Given the description of an element on the screen output the (x, y) to click on. 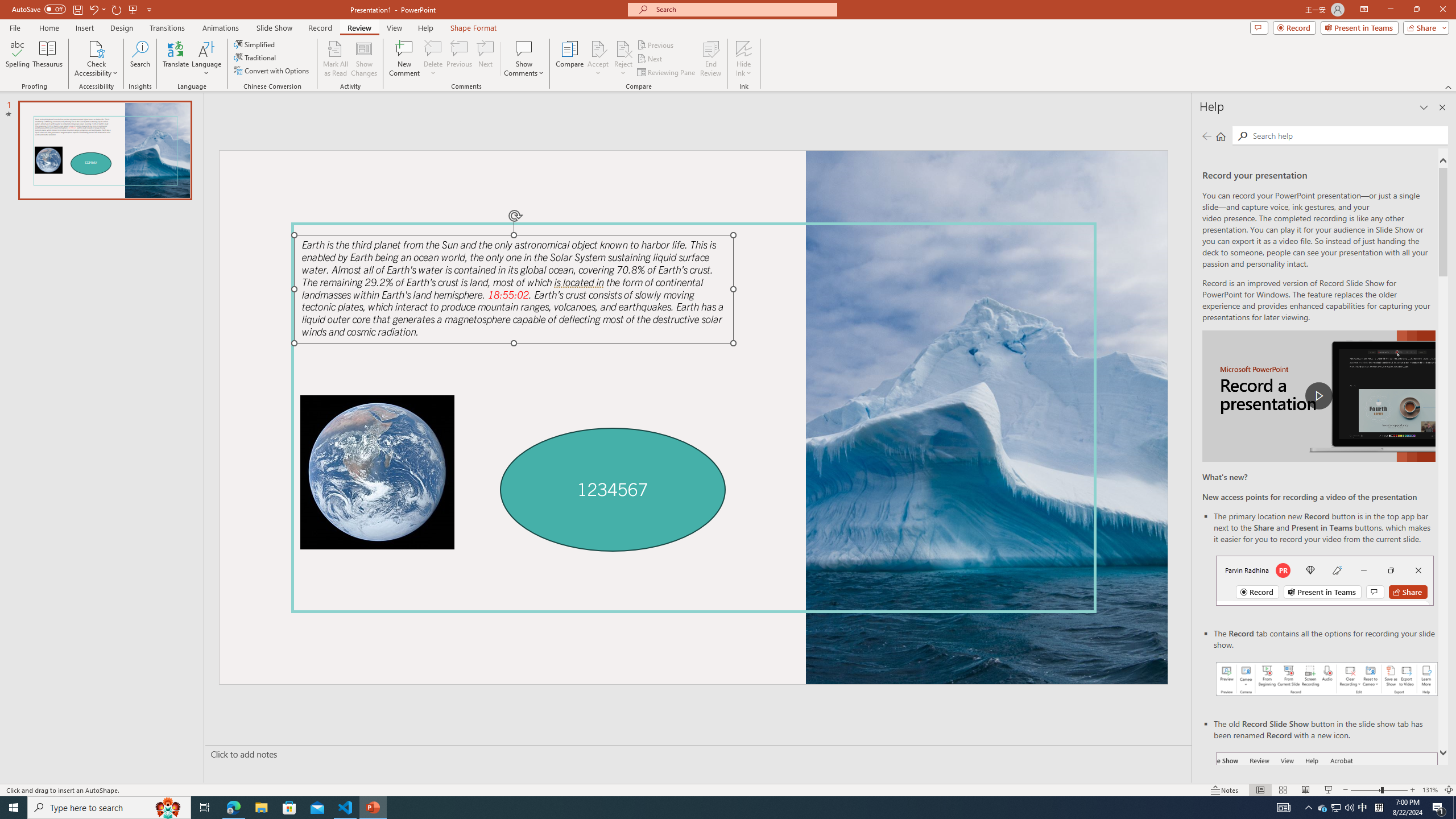
End Review (710, 58)
Traditional (255, 56)
